Given the description of an element on the screen output the (x, y) to click on. 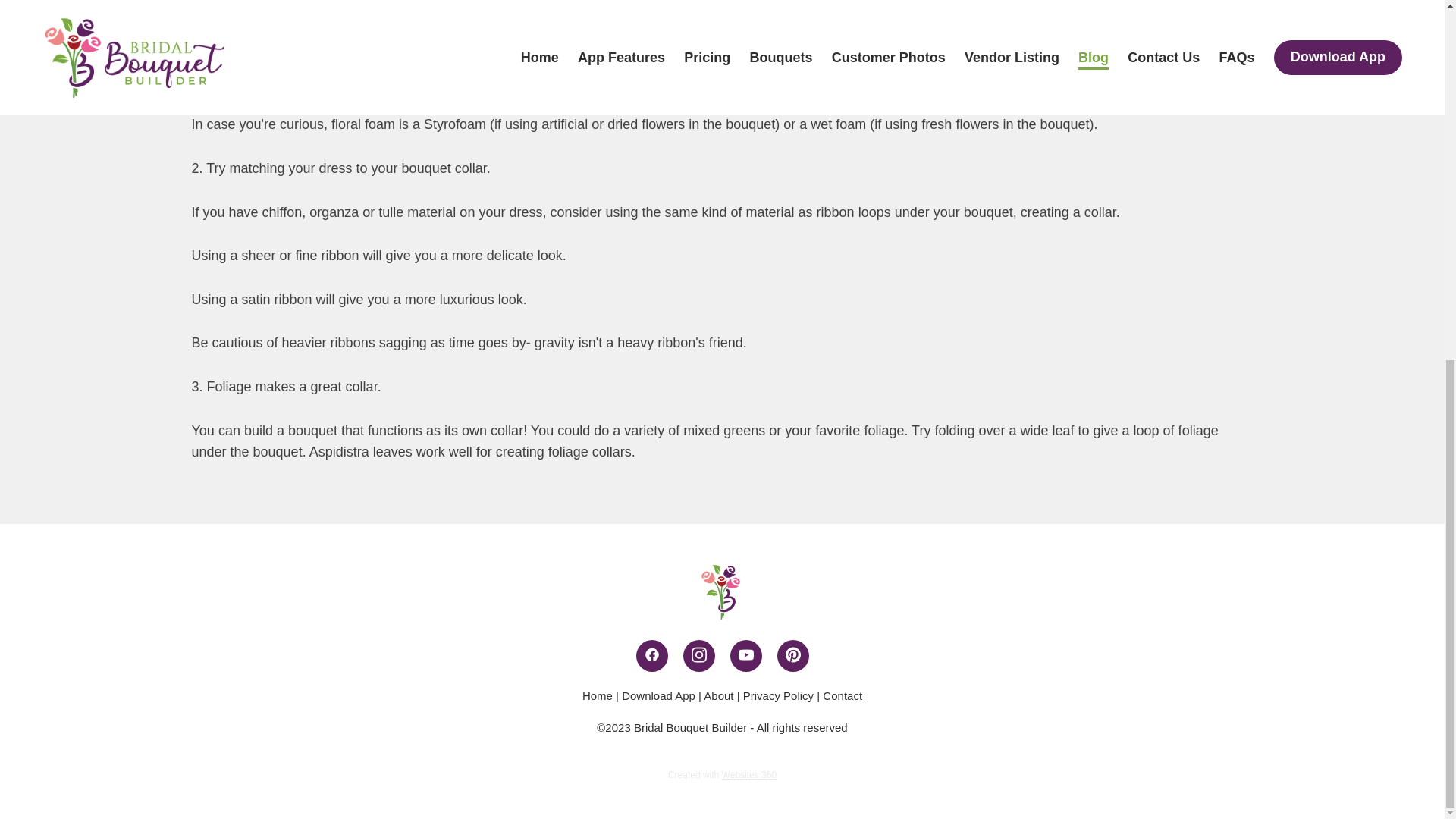
Created with Websites 360 (722, 774)
Download App (658, 695)
Home (597, 695)
Privacy Policy (777, 695)
About (718, 695)
Contact (841, 695)
